Given the description of an element on the screen output the (x, y) to click on. 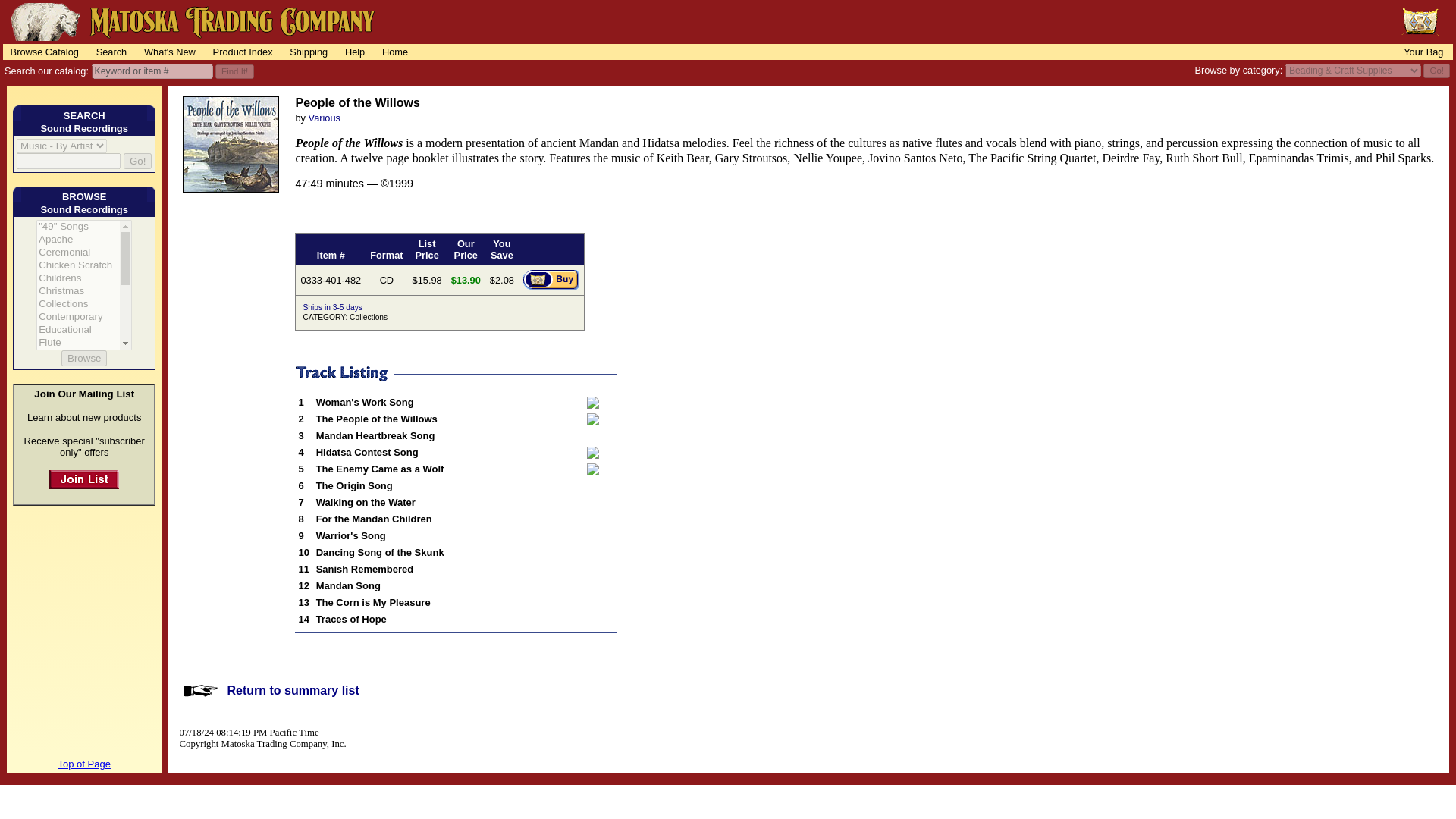
Find It! (234, 71)
Browse (83, 358)
Go! (137, 160)
Your Bag (1423, 51)
Shipping (308, 51)
Product Index (242, 51)
Help (354, 51)
Find It! (234, 71)
Go! (1436, 70)
Browse Catalog (43, 51)
Go! (1436, 70)
Home (394, 51)
Search (110, 51)
Various (324, 117)
Go! (137, 160)
